Given the description of an element on the screen output the (x, y) to click on. 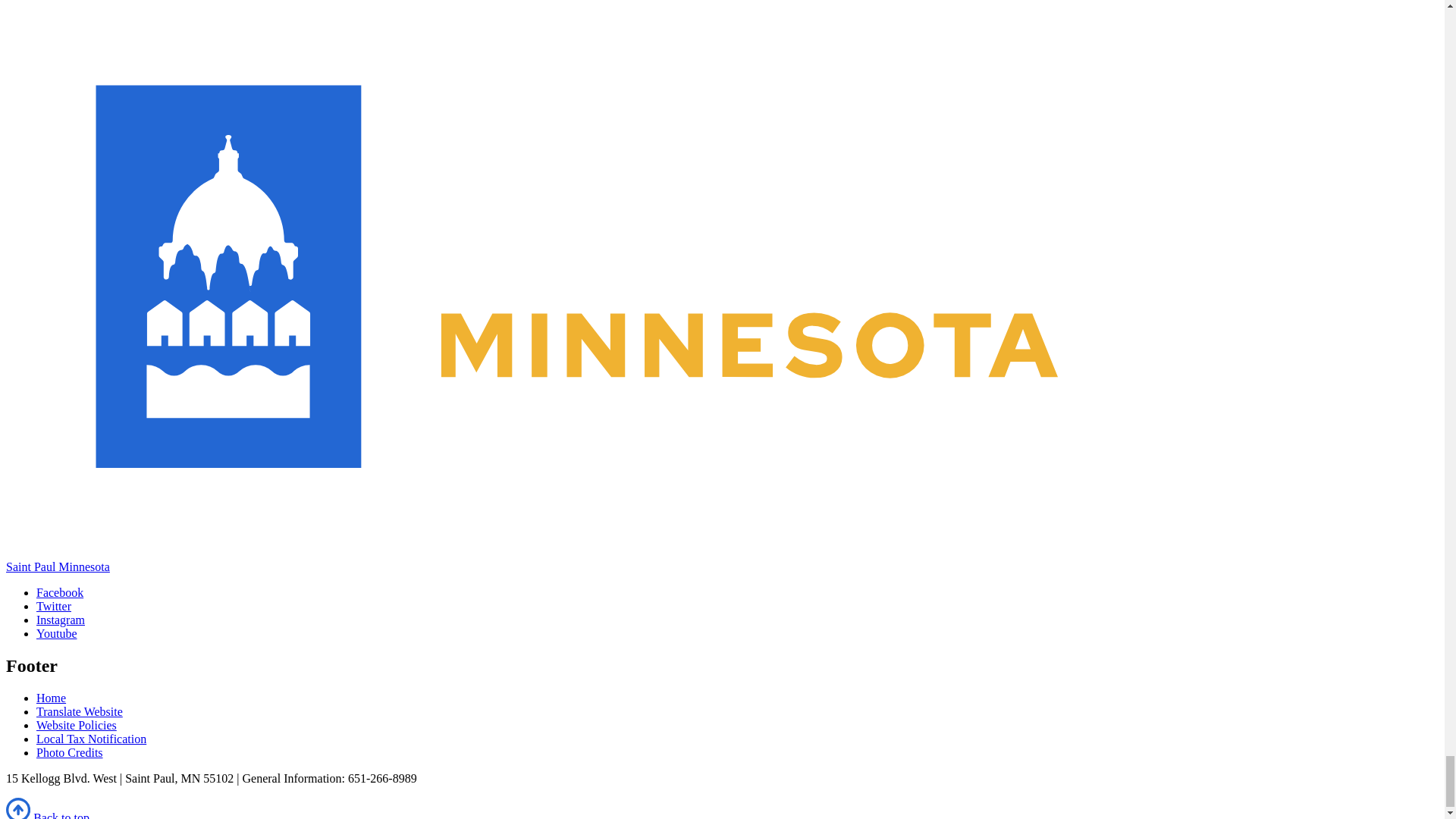
Follow us on Instagram (60, 619)
Follow us on Facebook (59, 592)
Follow us on YouTube (56, 633)
Follow us on Twitter (53, 605)
